Given the description of an element on the screen output the (x, y) to click on. 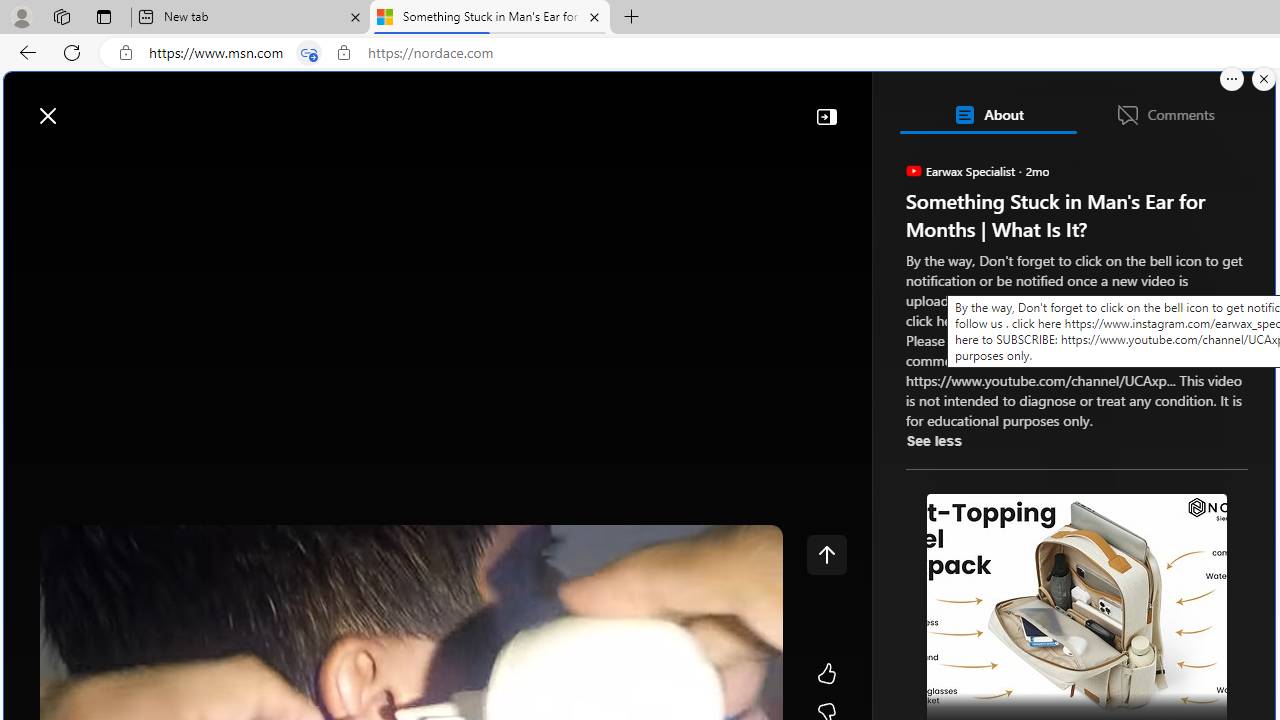
Following (173, 162)
Class: button-glyph (29, 162)
New Tab (632, 17)
Tabs in split screen (308, 53)
Open settings (1230, 105)
Skip to footer (82, 105)
Close split screen. (1264, 79)
Following (172, 162)
Open Copilot (995, 105)
Workspaces (61, 16)
